Given the description of an element on the screen output the (x, y) to click on. 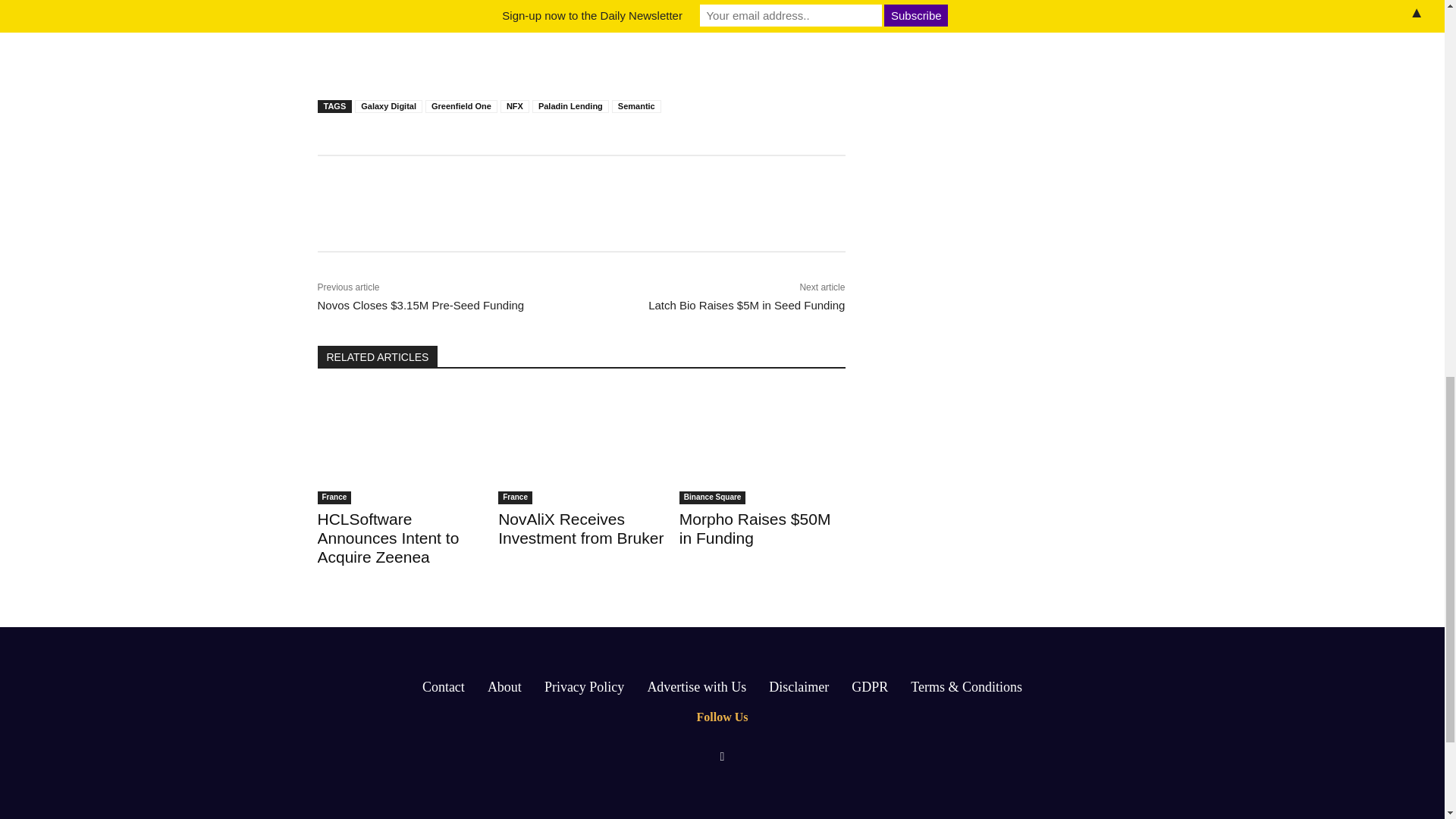
Semantic (636, 106)
NFX (514, 106)
Paladin Lending (570, 106)
Galaxy Digital (388, 106)
Greenfield One (461, 106)
